Given the description of an element on the screen output the (x, y) to click on. 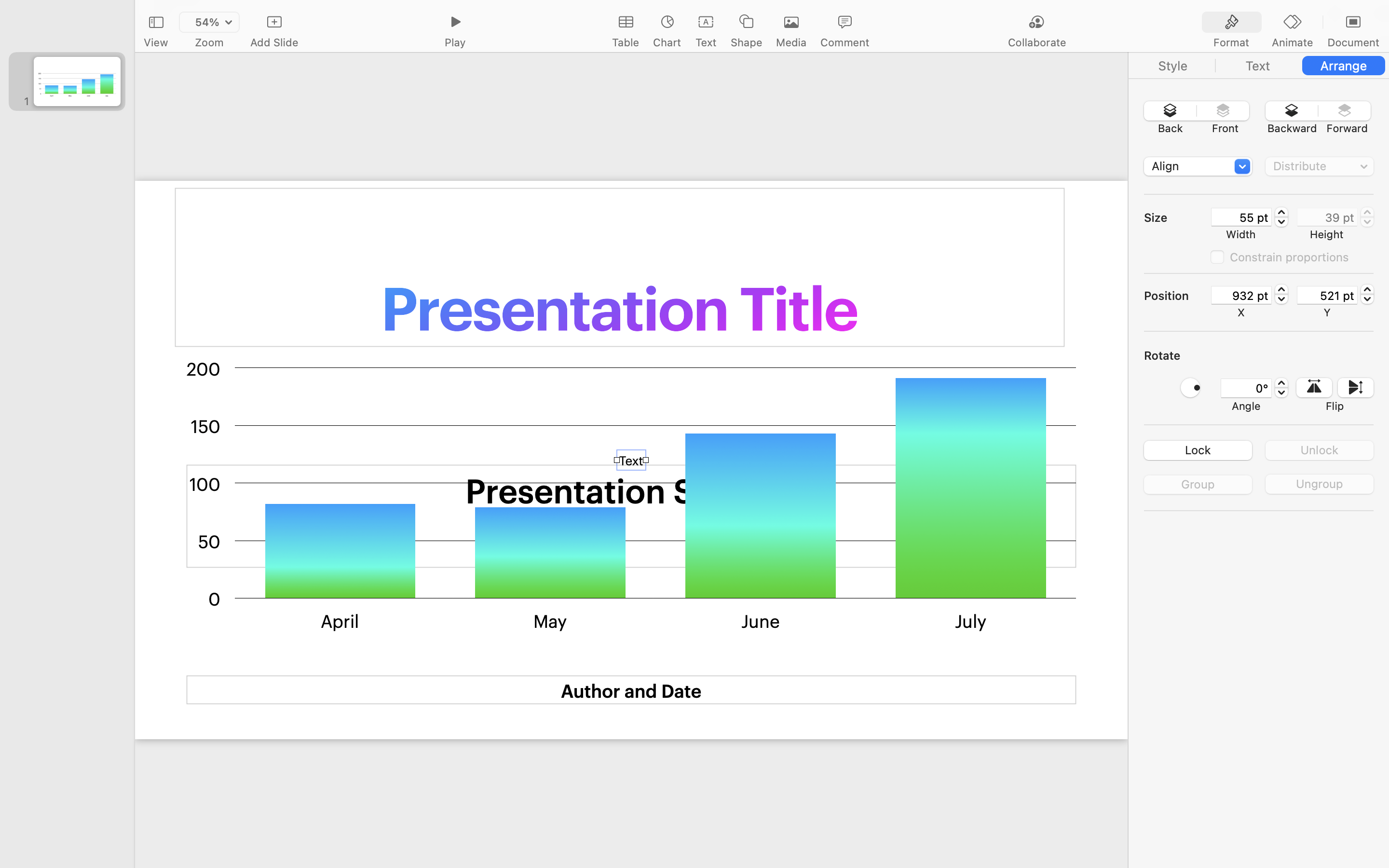
Animate Element type: AXStaticText (1291, 42)
38.7599995136261 Element type: AXIncrementor (1367, 216)
0.0 Element type: AXIncrementor (1281, 387)
X Element type: AXStaticText (1241, 312)
